Given the description of an element on the screen output the (x, y) to click on. 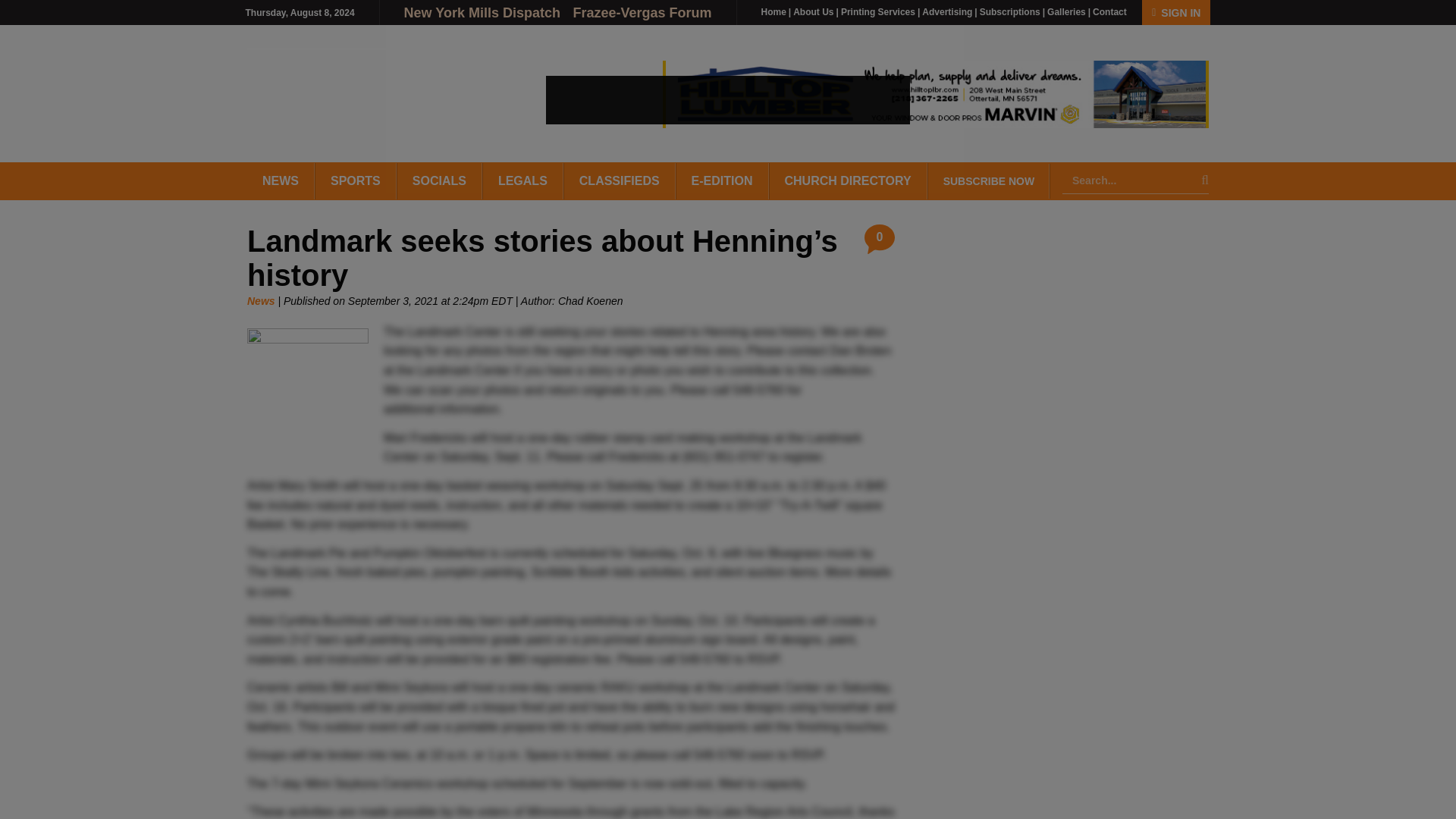
NEWS (280, 180)
Subscriptions (1010, 11)
Printing Services (878, 11)
Home (773, 11)
Galleries (1066, 11)
Contact (1109, 11)
About Us (812, 11)
SIGN IN (1175, 12)
Frazee-Vergas Forum (641, 11)
Advertising (946, 11)
